Given the description of an element on the screen output the (x, y) to click on. 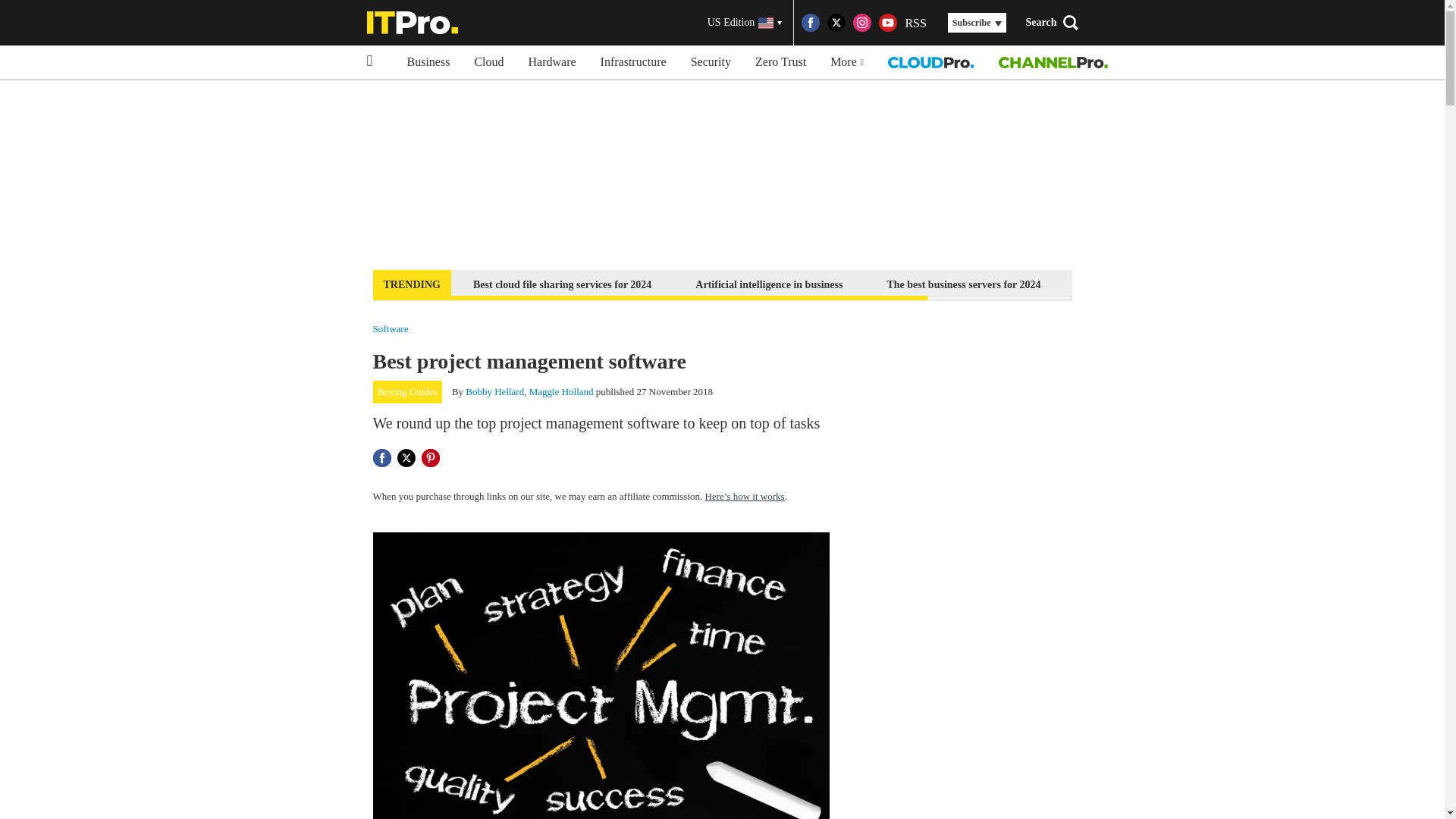
RSS (915, 22)
The best business servers for 2024 (962, 284)
Subscribe to the ITPro newsletter (1161, 284)
Best cloud file sharing services for 2024 (561, 284)
US Edition (745, 22)
Zero Trust (780, 61)
Buying Guides (407, 391)
Maggie Holland (561, 391)
Bobby Hellard (494, 391)
Artificial intelligence in business (768, 284)
